Given the description of an element on the screen output the (x, y) to click on. 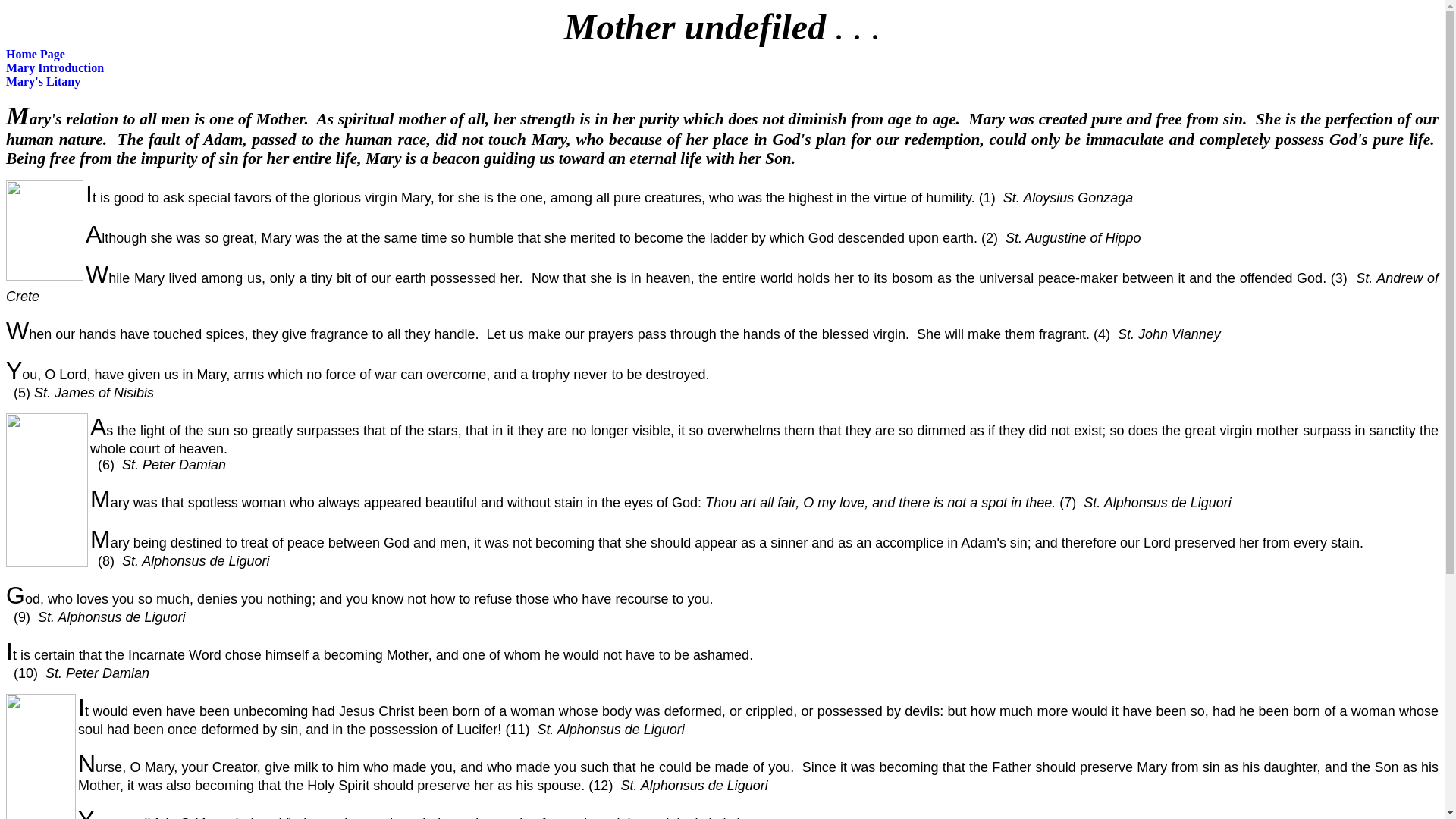
Home Page (35, 53)
Mary Introduction (54, 67)
Mary's Litany (42, 81)
